Given the description of an element on the screen output the (x, y) to click on. 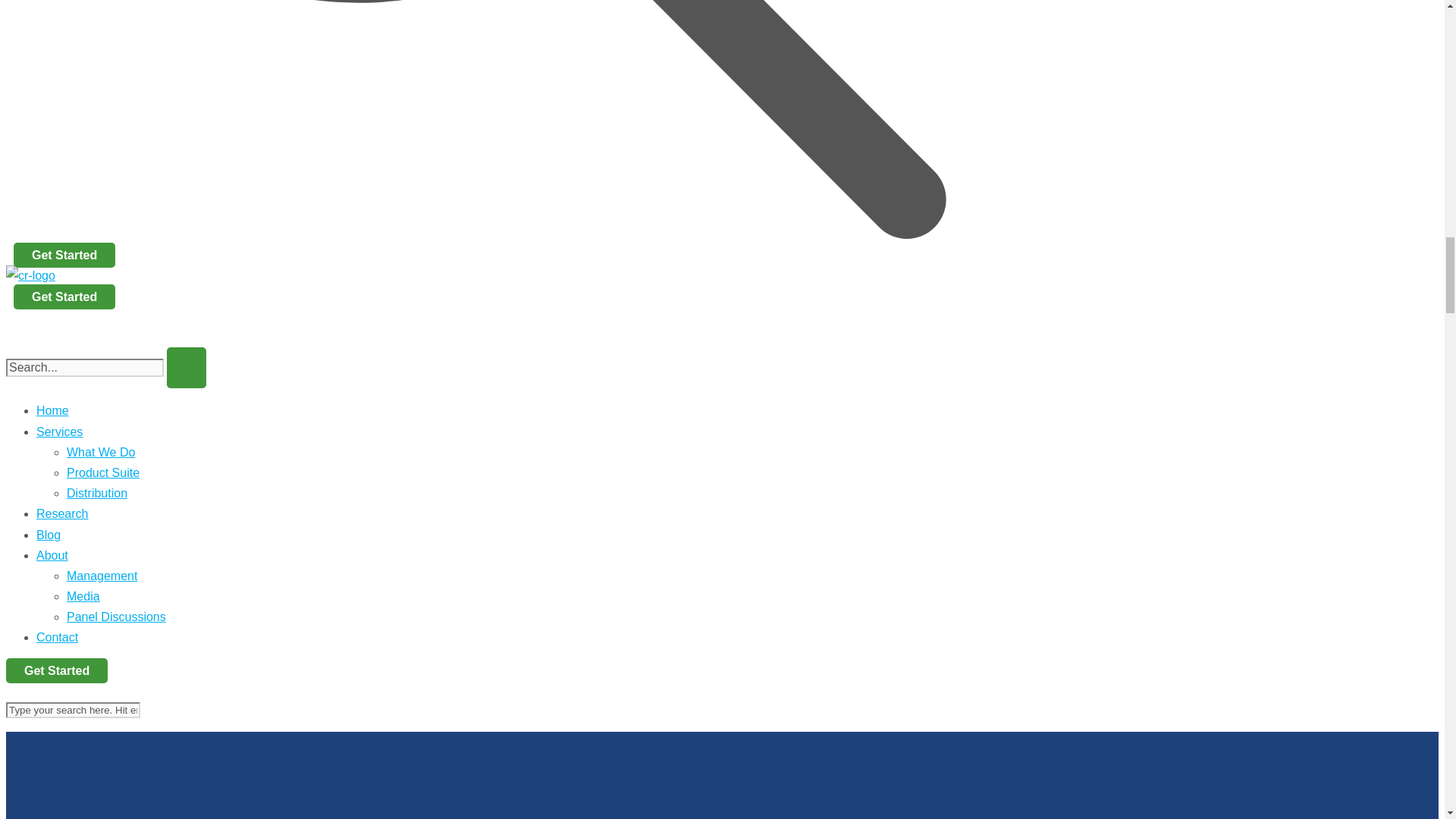
Get Started (64, 254)
Get Started (64, 296)
cr-logo (30, 275)
Services (59, 431)
What We Do (100, 451)
Home (52, 410)
